Given the description of an element on the screen output the (x, y) to click on. 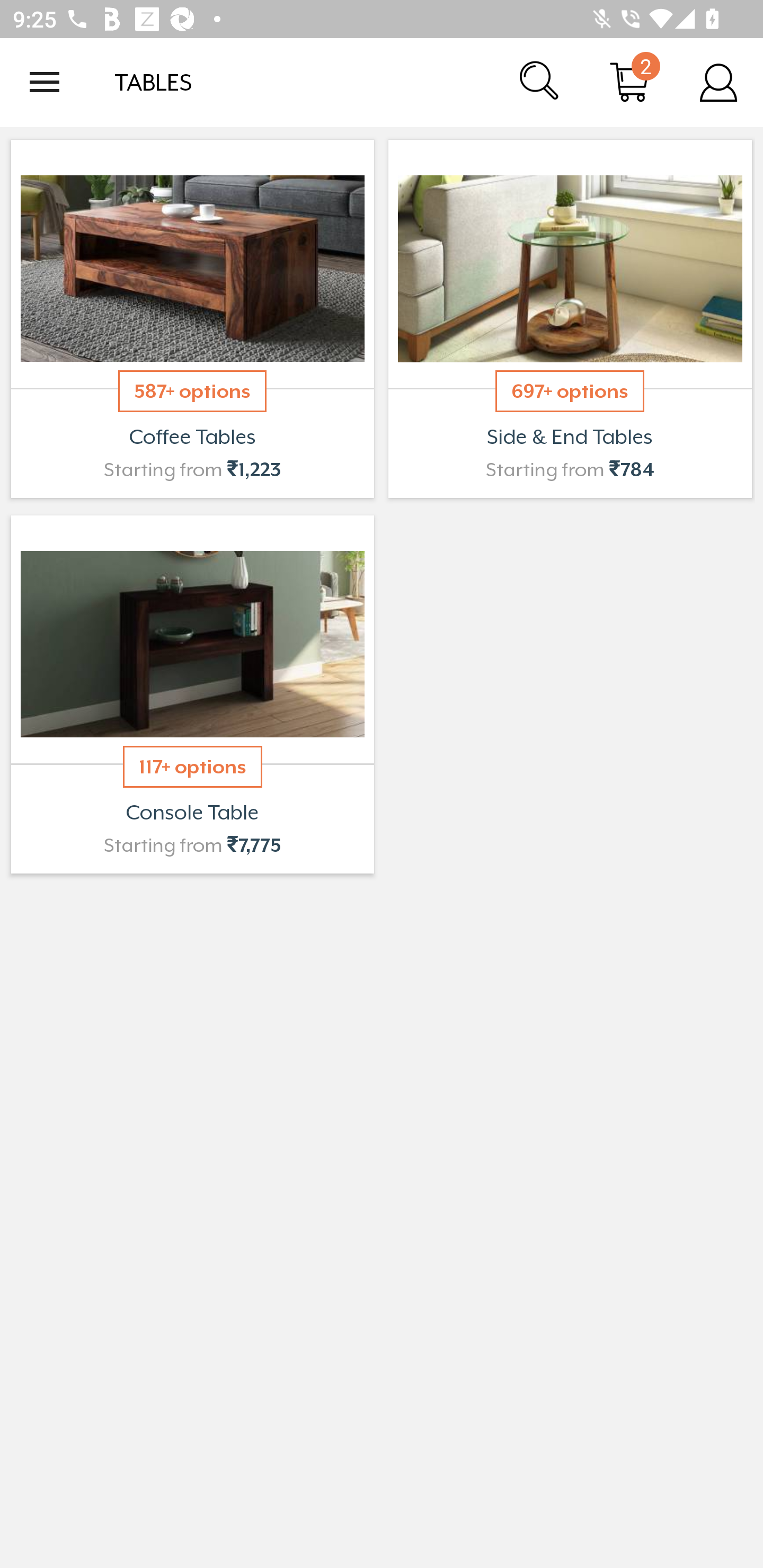
Open navigation drawer (44, 82)
Search (540, 81)
Cart (629, 81)
Account Details (718, 81)
587+ options Coffee Tables Starting from  ₹1,223 (191, 318)
697+ options Side & End Tables Starting from  ₹784 (570, 318)
117+ options Console Table Starting from  ₹7,775 (191, 694)
